Given the description of an element on the screen output the (x, y) to click on. 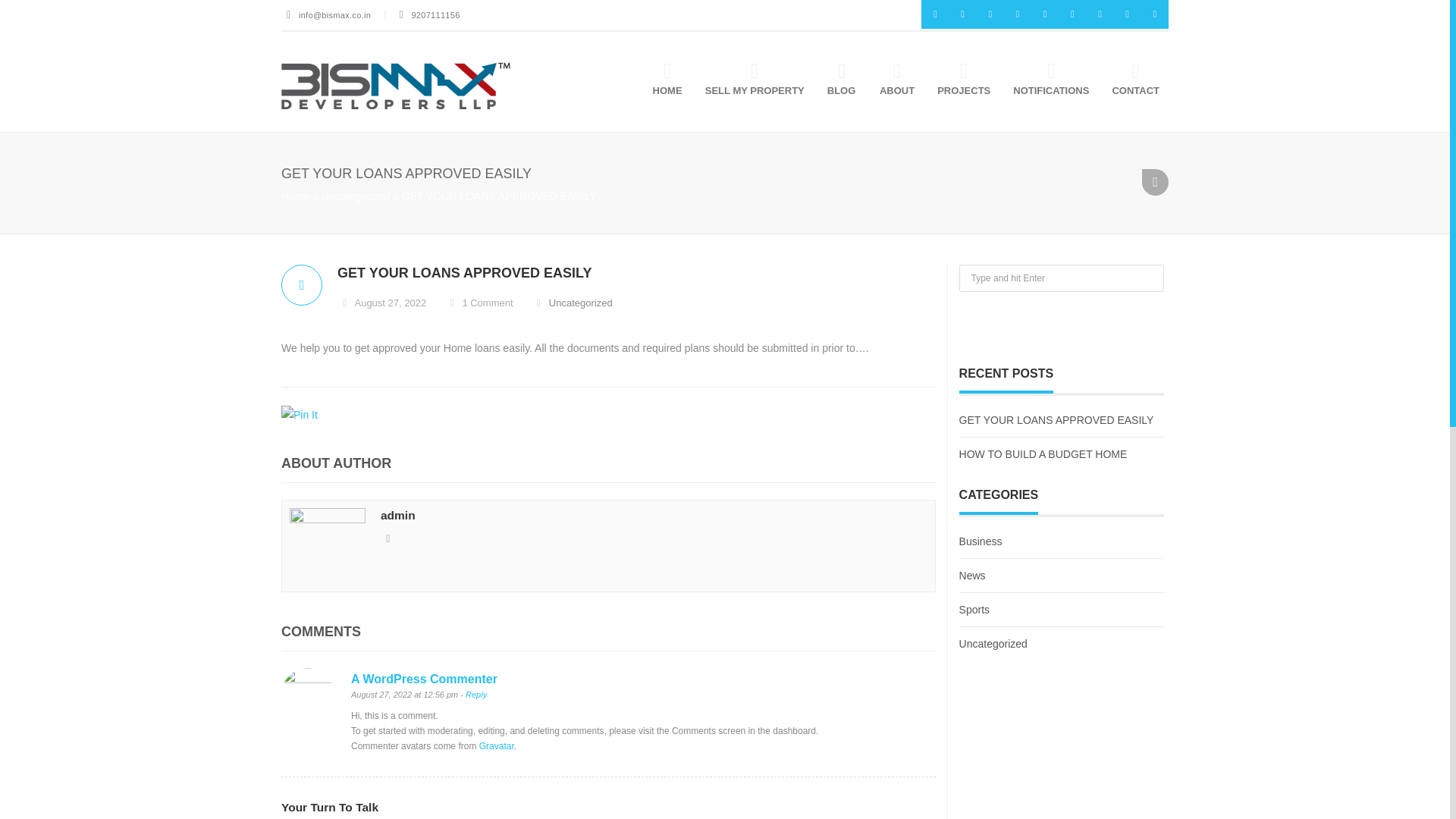
PROJECTS (956, 81)
ABOUT (890, 81)
Text (301, 284)
Uncategorized (355, 196)
Youtube (1044, 13)
Facebook (962, 13)
Twitter (935, 13)
SELL MY PROPERTY (748, 81)
Gravatar (496, 746)
Vimeo (1071, 13)
GET YOUR LOANS APPROVED EASILY (636, 272)
NOTIFICATIONS (1043, 81)
CONTACT (1127, 81)
Linkedin (1017, 13)
Home (294, 196)
